Given the description of an element on the screen output the (x, y) to click on. 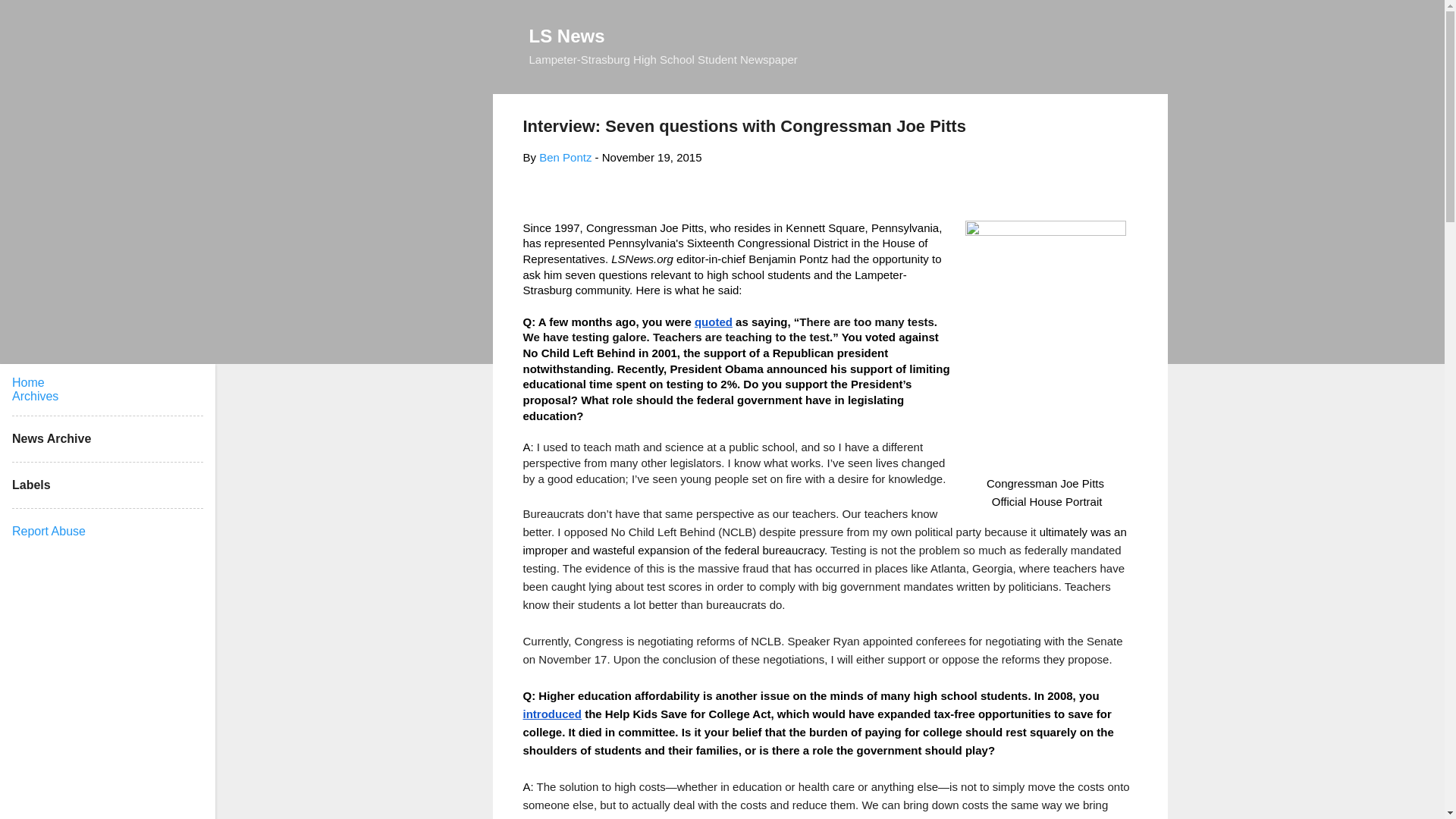
author profile (564, 156)
introduced (552, 713)
permanent link (651, 156)
Search (29, 18)
Ben Pontz (564, 156)
LS News (567, 35)
November 19, 2015 (651, 156)
quoted (713, 321)
